Given the description of an element on the screen output the (x, y) to click on. 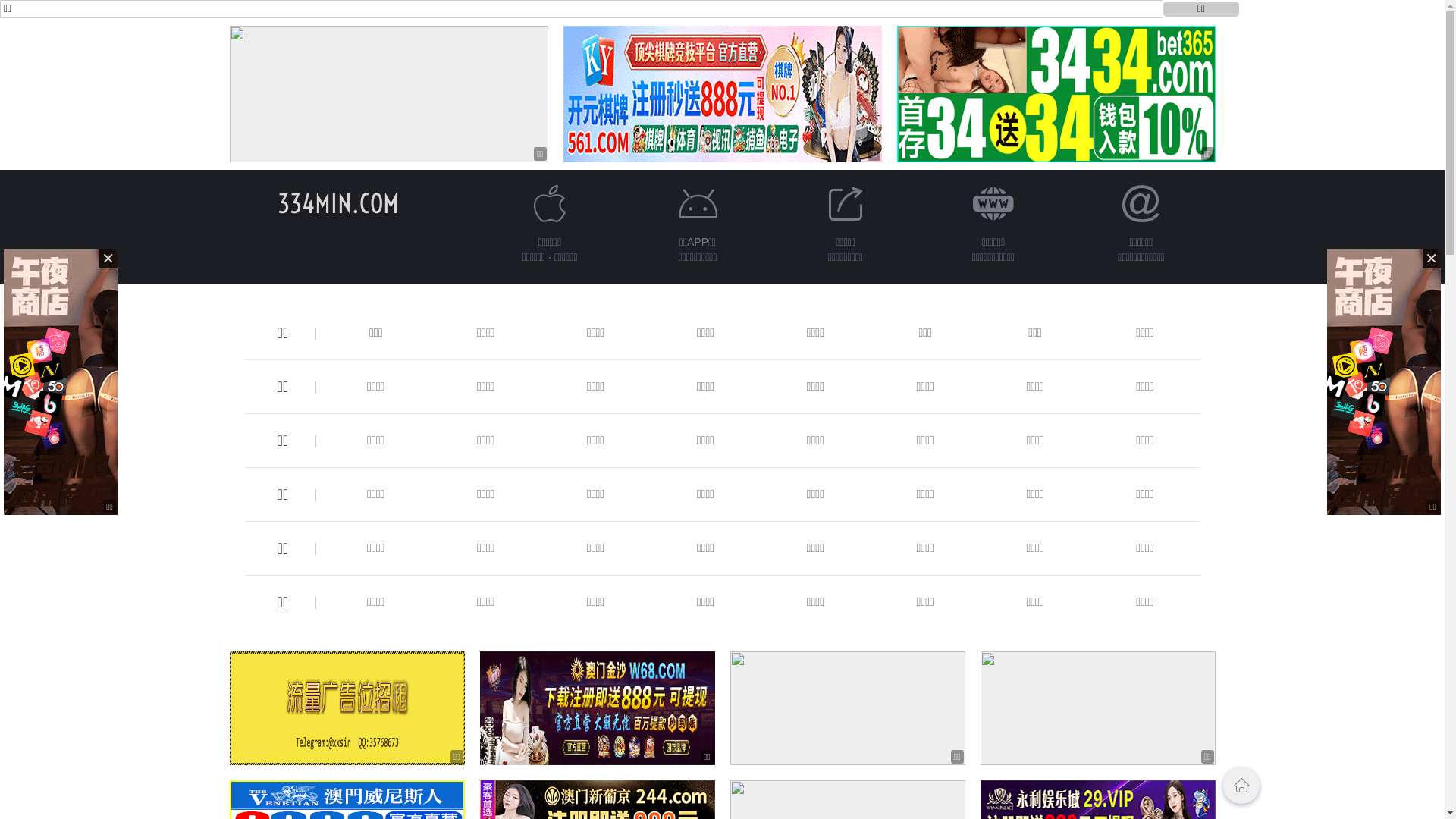
334MIN.COM Element type: text (337, 203)
